Given the description of an element on the screen output the (x, y) to click on. 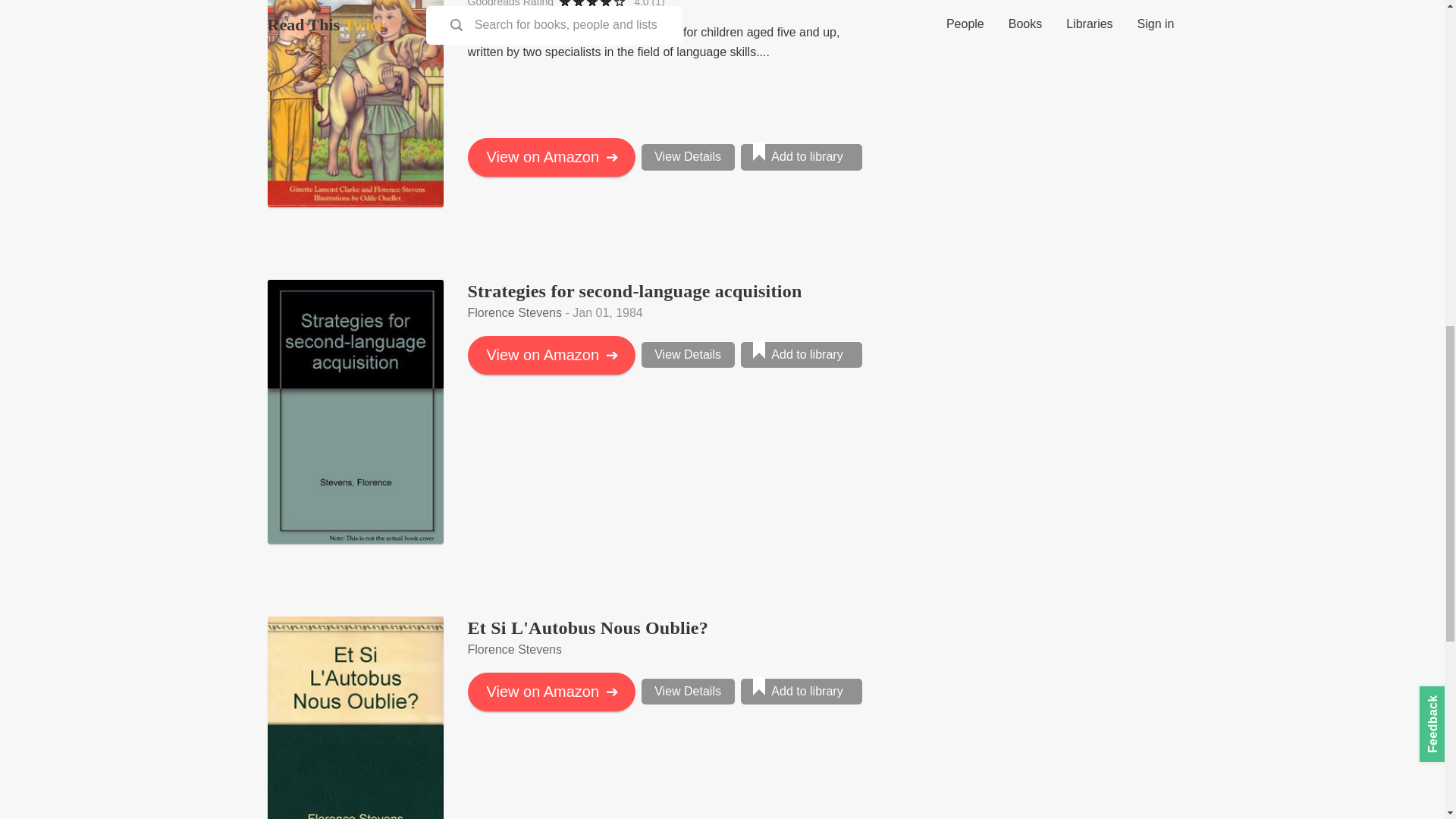
View Details (688, 354)
Et Si L'Autobus Nous Oublie? (587, 628)
Goodreads reviews (648, 4)
View Details (688, 691)
View Details (688, 156)
Add to library (800, 691)
Add to library (800, 354)
Add to library (800, 156)
Strategies for second-language acquisition (634, 291)
